Given the description of an element on the screen output the (x, y) to click on. 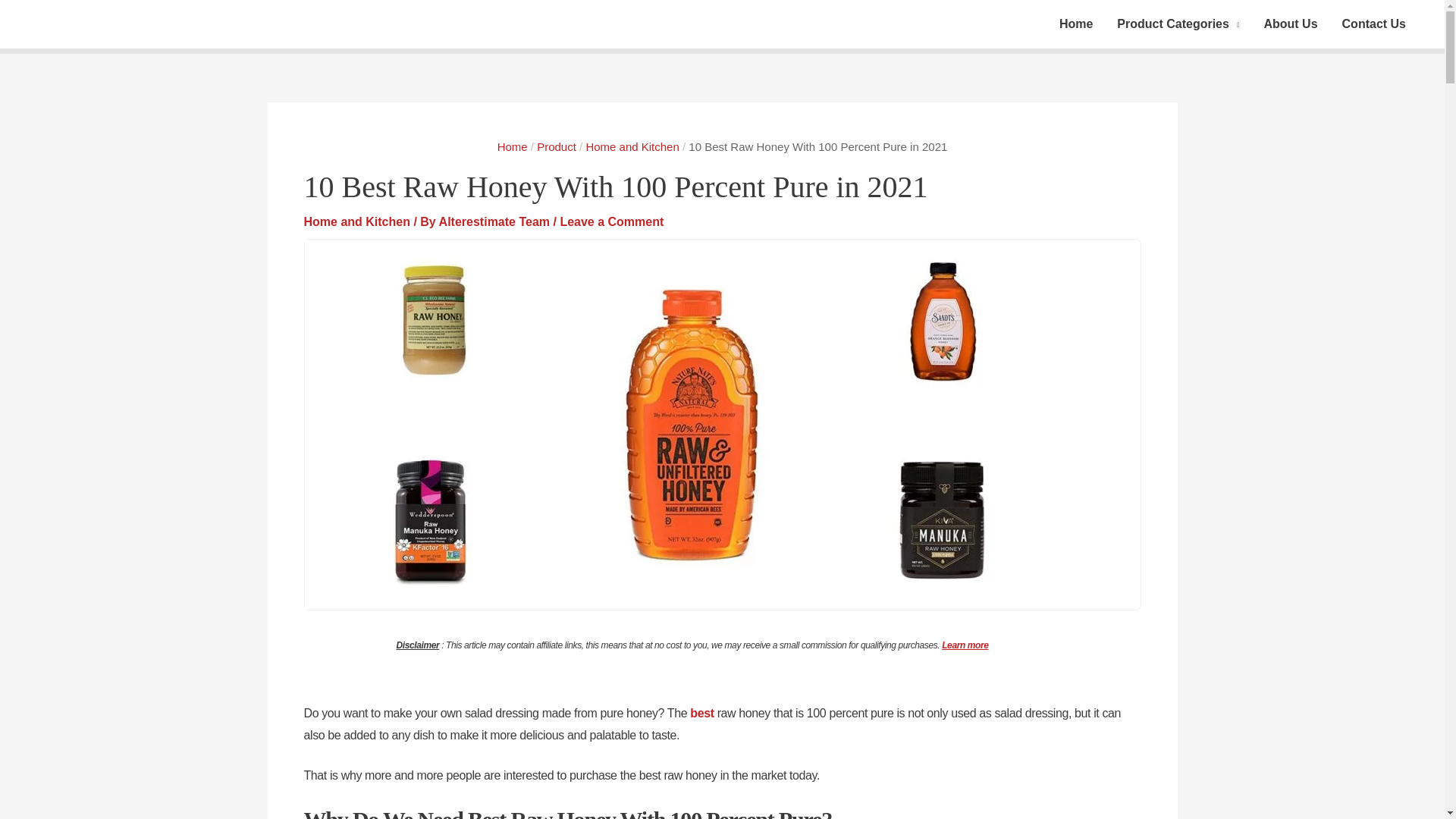
Alterestimate (1075, 24)
Product Categories (1177, 24)
View all posts by Alterestimate Team (496, 221)
Home (1075, 24)
About Us (1289, 24)
Contact Us (1374, 24)
Contact Us (1374, 24)
Product Categories (1177, 24)
About Us (1289, 24)
